Given the description of an element on the screen output the (x, y) to click on. 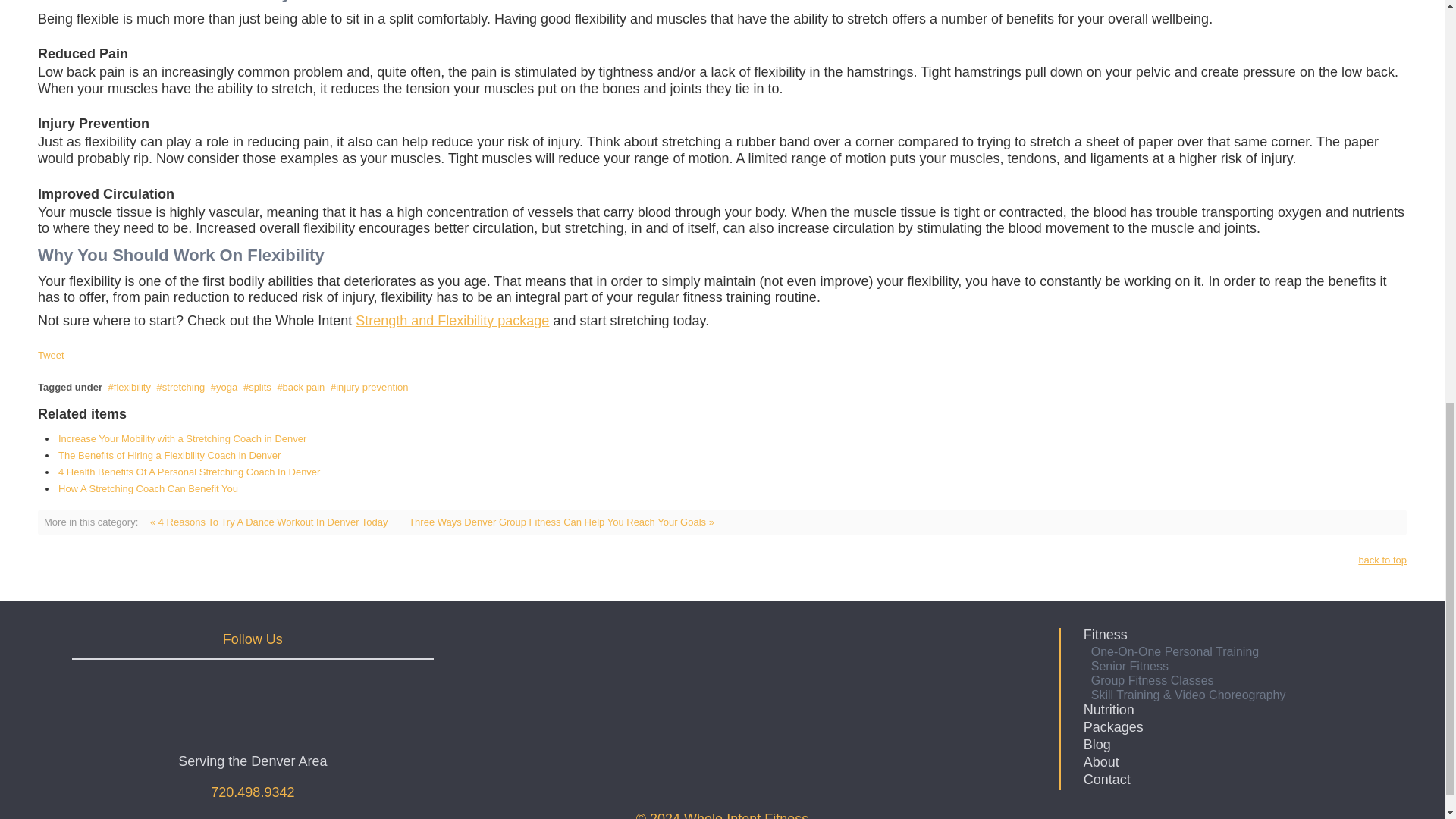
yoga (224, 387)
Tweet (50, 355)
How A Stretching Coach Can Benefit You (148, 488)
4 Health Benefits Of A Personal Stretching Coach In Denver (189, 471)
back to top (1382, 559)
splits (256, 387)
Increase Your Mobility with a Stretching Coach in Denver (181, 438)
injury prevention (369, 387)
back pain (300, 387)
flexibility (129, 387)
Strength and Flexibility package (451, 320)
stretching (181, 387)
The Benefits of Hiring a Flexibility Coach in Denver (169, 455)
